Given the description of an element on the screen output the (x, y) to click on. 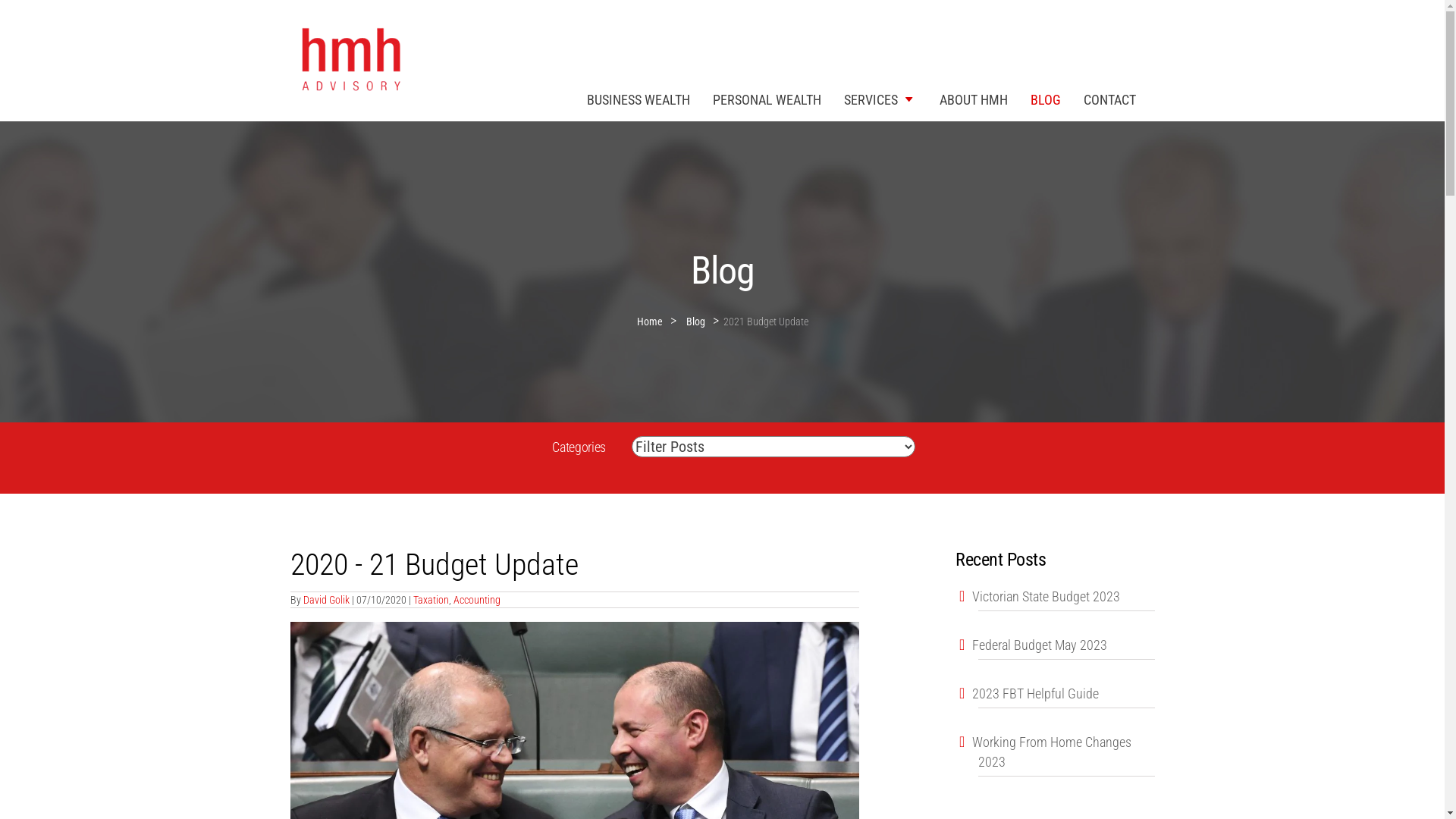
ABOUT HMH Element type: text (973, 98)
Home Element type: text (653, 318)
Blog Element type: text (694, 318)
PERSONAL WEALTH Element type: text (765, 98)
SERVICES Element type: text (880, 98)
Accounting Element type: text (476, 599)
Taxation Element type: text (430, 599)
2023 FBT Helpful Guide Element type: text (1054, 698)
BUSINESS WEALTH Element type: text (637, 98)
Victorian State Budget 2023 Element type: text (1054, 601)
CONTACT Element type: text (1109, 98)
BLOG Element type: text (1045, 98)
hmh Advisory Element type: text (348, 60)
Federal Budget May 2023 Element type: text (1054, 650)
Working From Home Changes 2023 Element type: text (1054, 756)
David Golik Element type: text (326, 599)
